Given the description of an element on the screen output the (x, y) to click on. 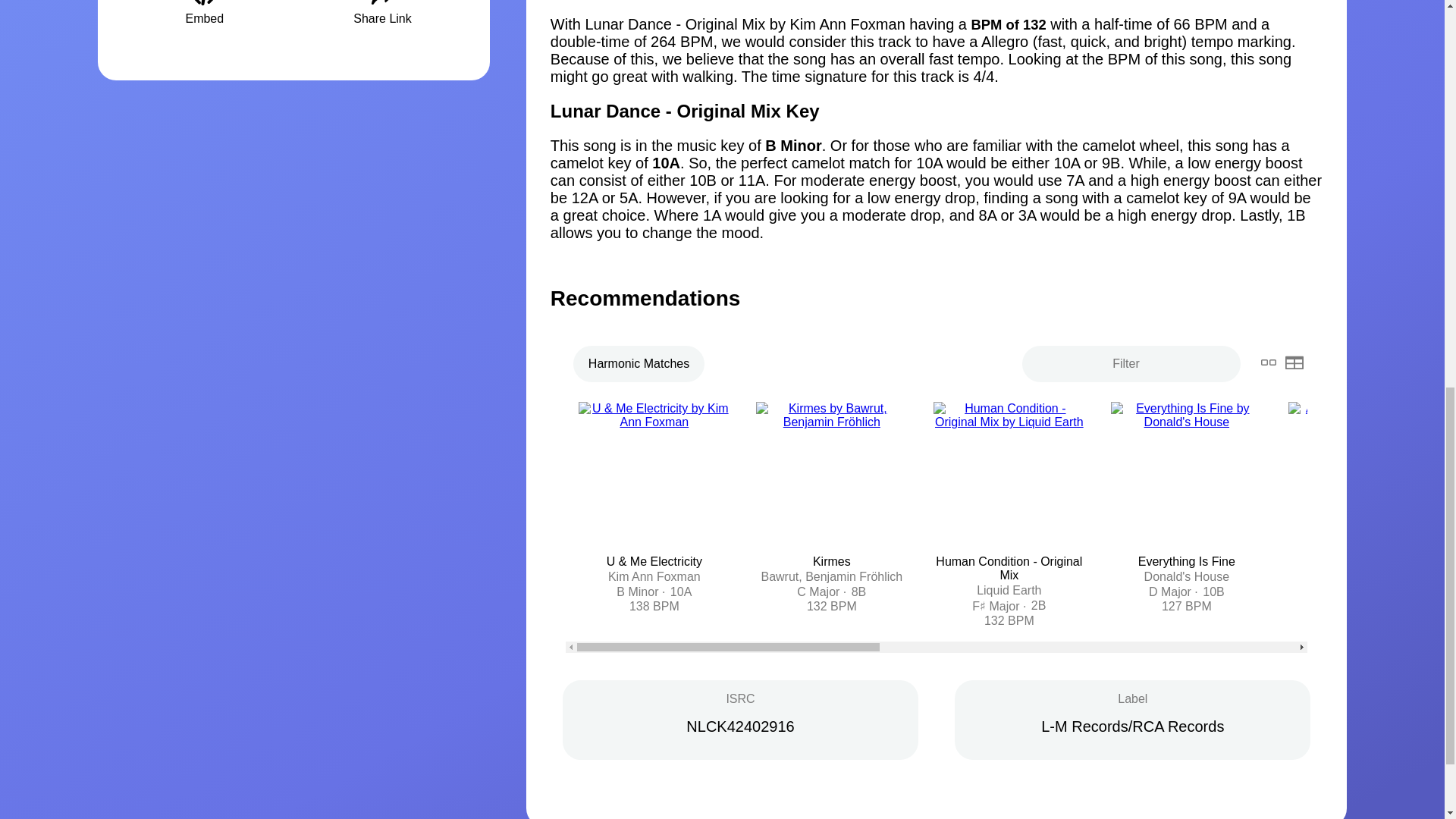
BPM of 132 (1008, 24)
Kirmes (831, 561)
Human Condition - Original Mix (1008, 568)
Assinie - Escape Mix (1364, 561)
Everything Is Fine (1186, 561)
